Given the description of an element on the screen output the (x, y) to click on. 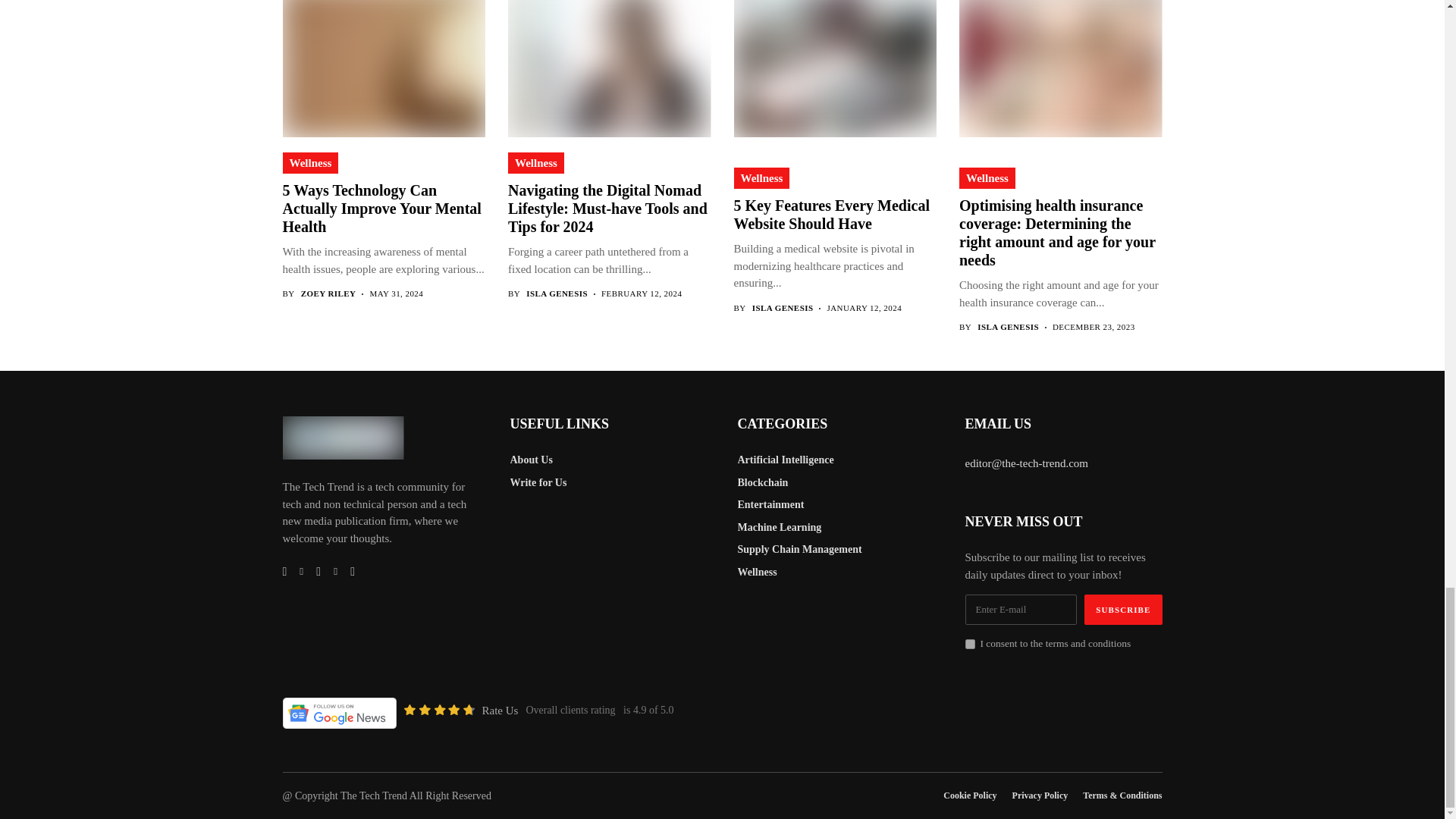
Posts by Isla Genesis (1007, 327)
Posts by Isla Genesis (556, 293)
Posts by Zoey Riley (328, 293)
Subscribe (1122, 609)
1 (968, 644)
Posts by Isla Genesis (782, 307)
